Given the description of an element on the screen output the (x, y) to click on. 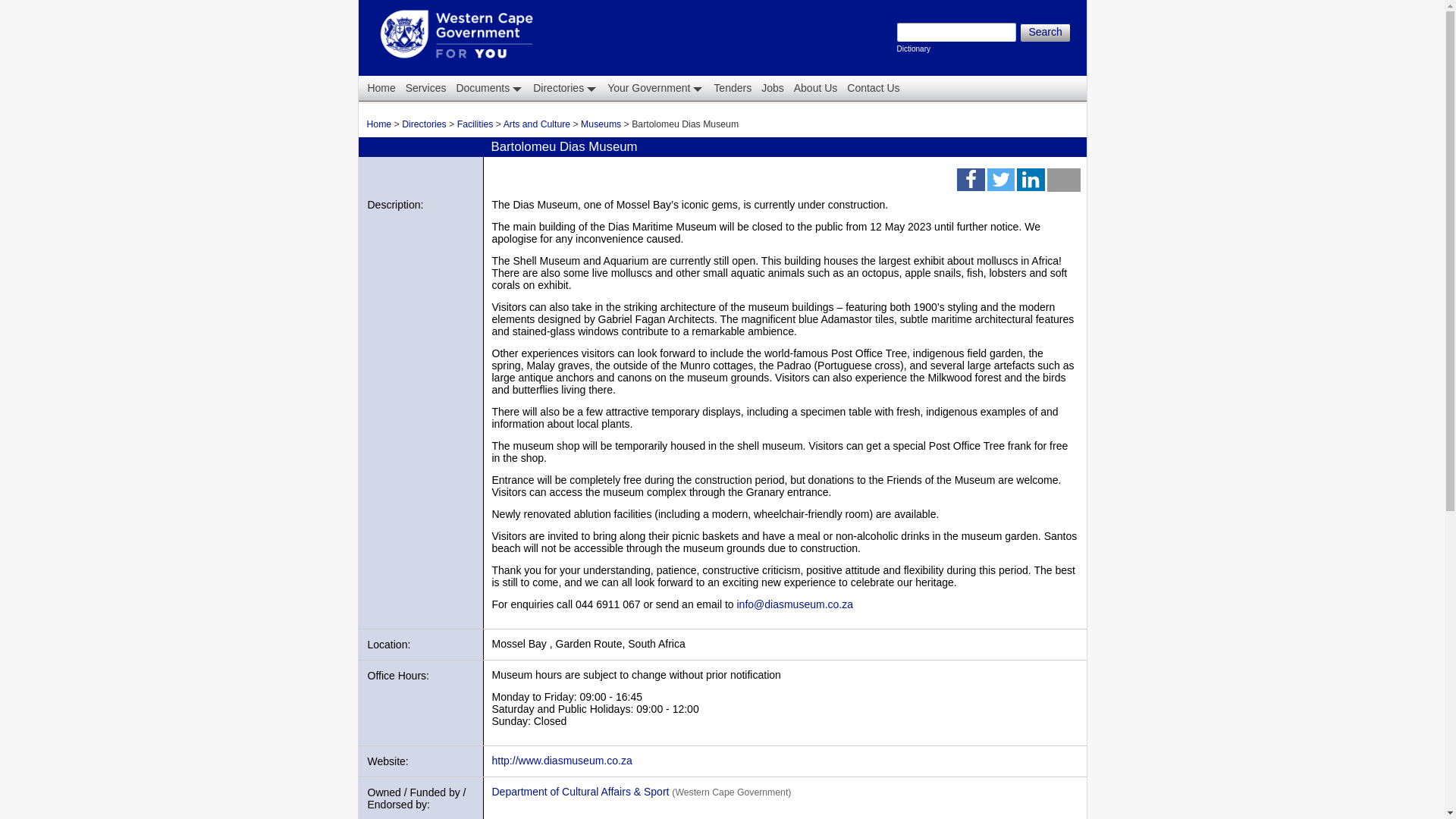
Services (423, 88)
Share via email (488, 88)
Share on Twitter (1063, 182)
Share on Facebook (1000, 182)
Facilities (970, 182)
Search (475, 123)
Jobs (564, 88)
Tenders (1044, 32)
Share on Linkedin (771, 88)
Search (731, 88)
About Us (1029, 182)
Arts and Culture (1044, 32)
